Given the description of an element on the screen output the (x, y) to click on. 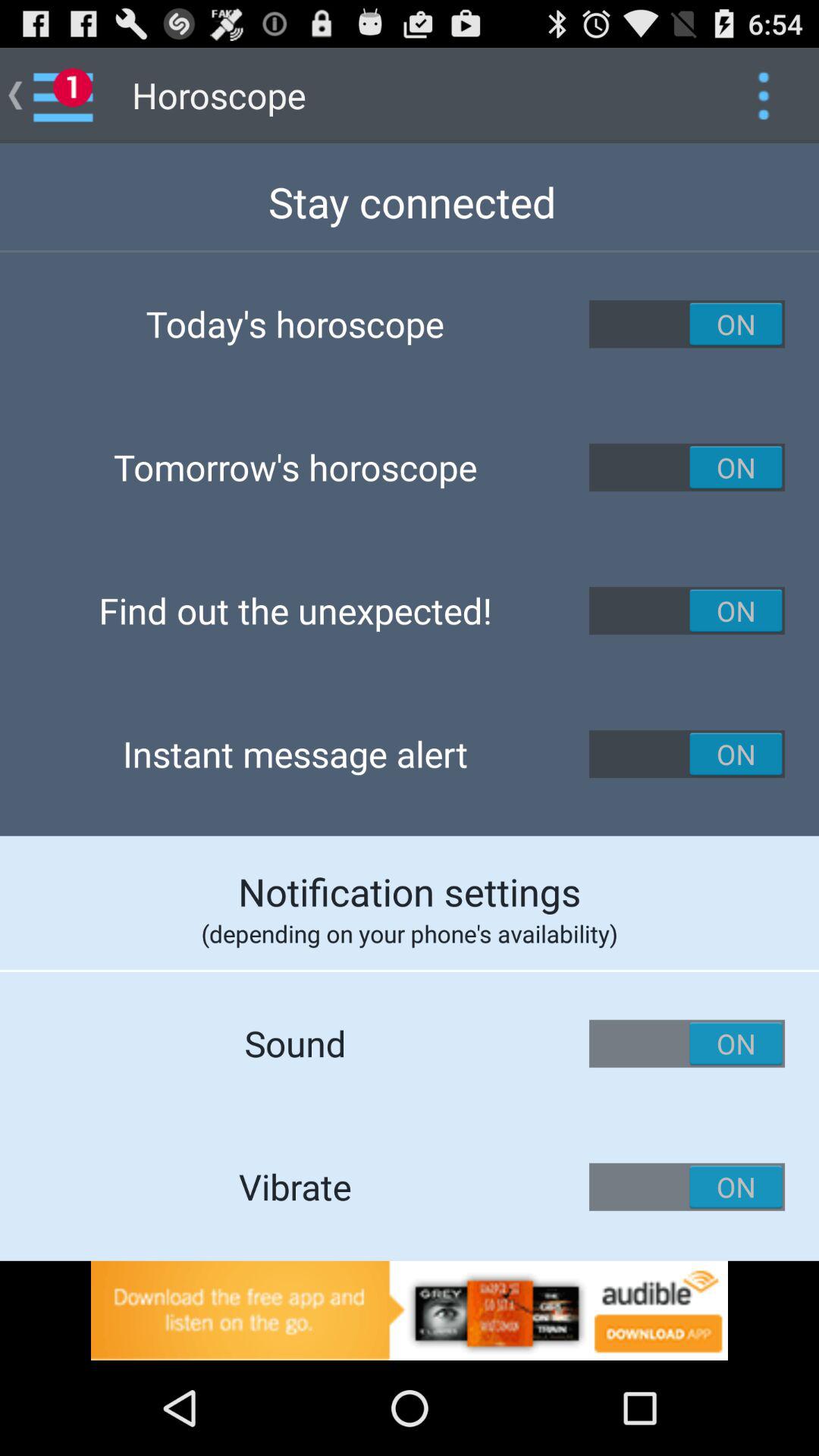
on button (686, 1186)
